Given the description of an element on the screen output the (x, y) to click on. 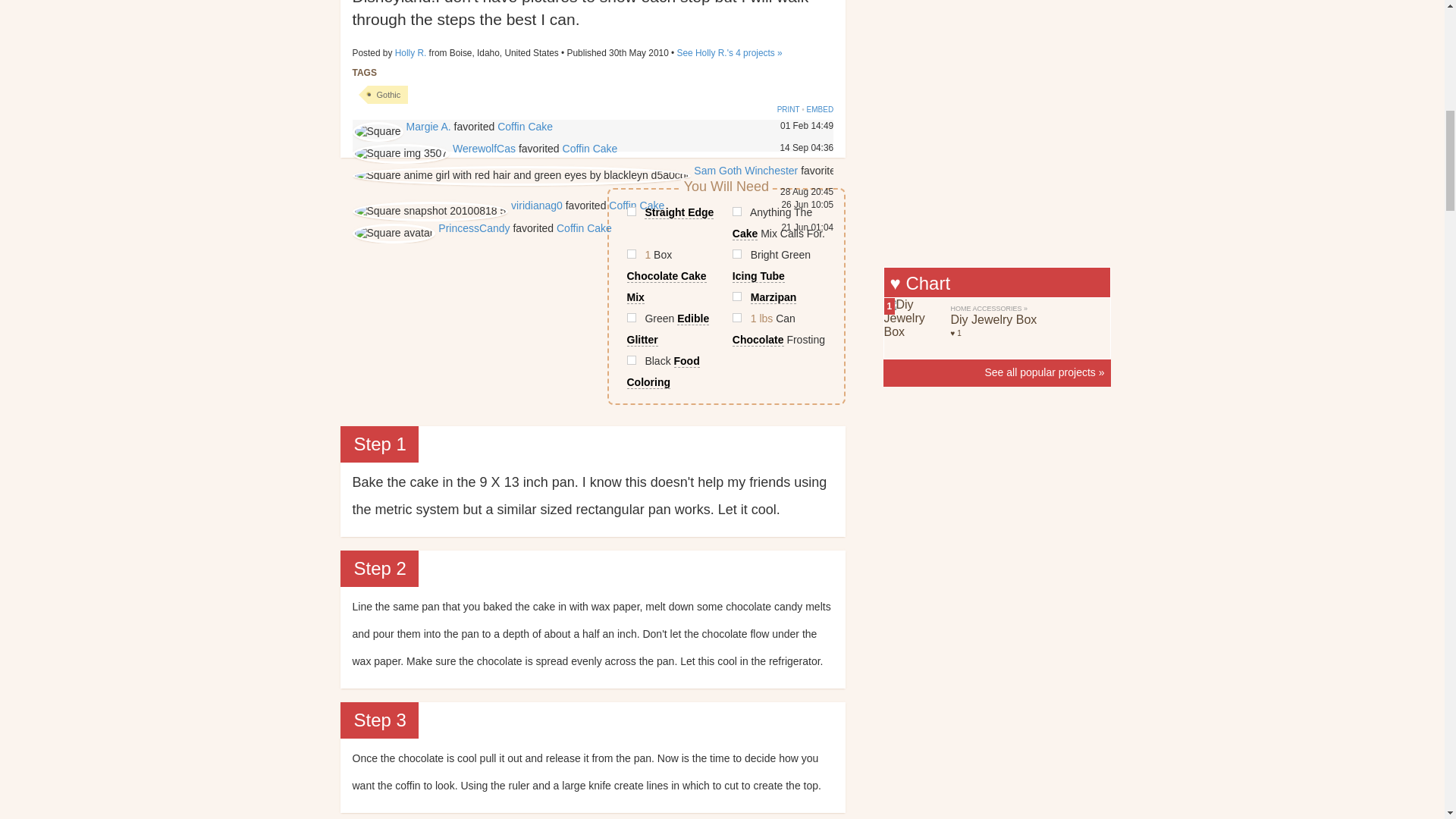
See other projects using Straight Edge (672, 211)
See other projects using Cake (778, 222)
See other projects using Chocolate Cake Mix (672, 275)
